Given the description of an element on the screen output the (x, y) to click on. 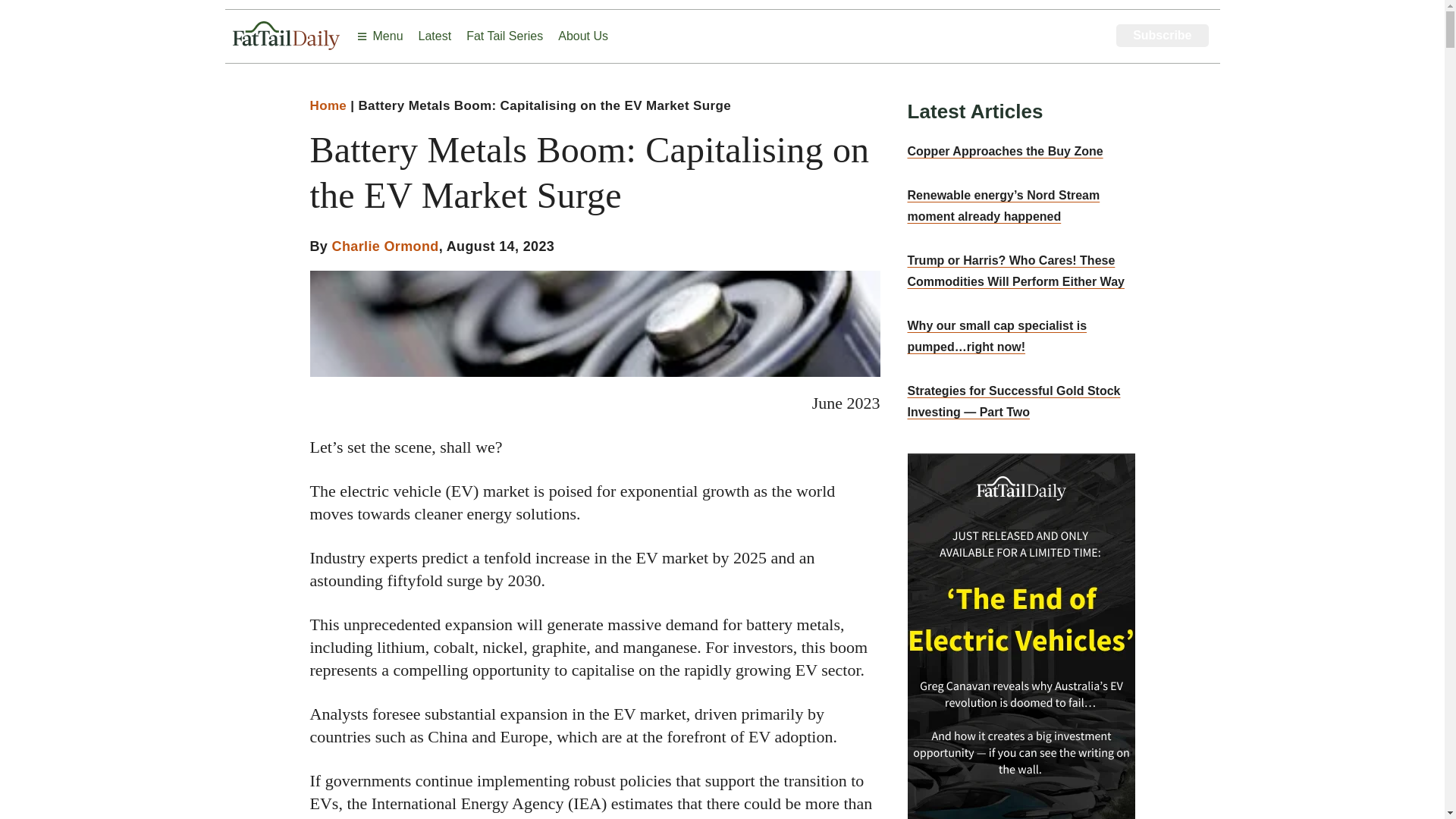
Menu (379, 36)
